Given the description of an element on the screen output the (x, y) to click on. 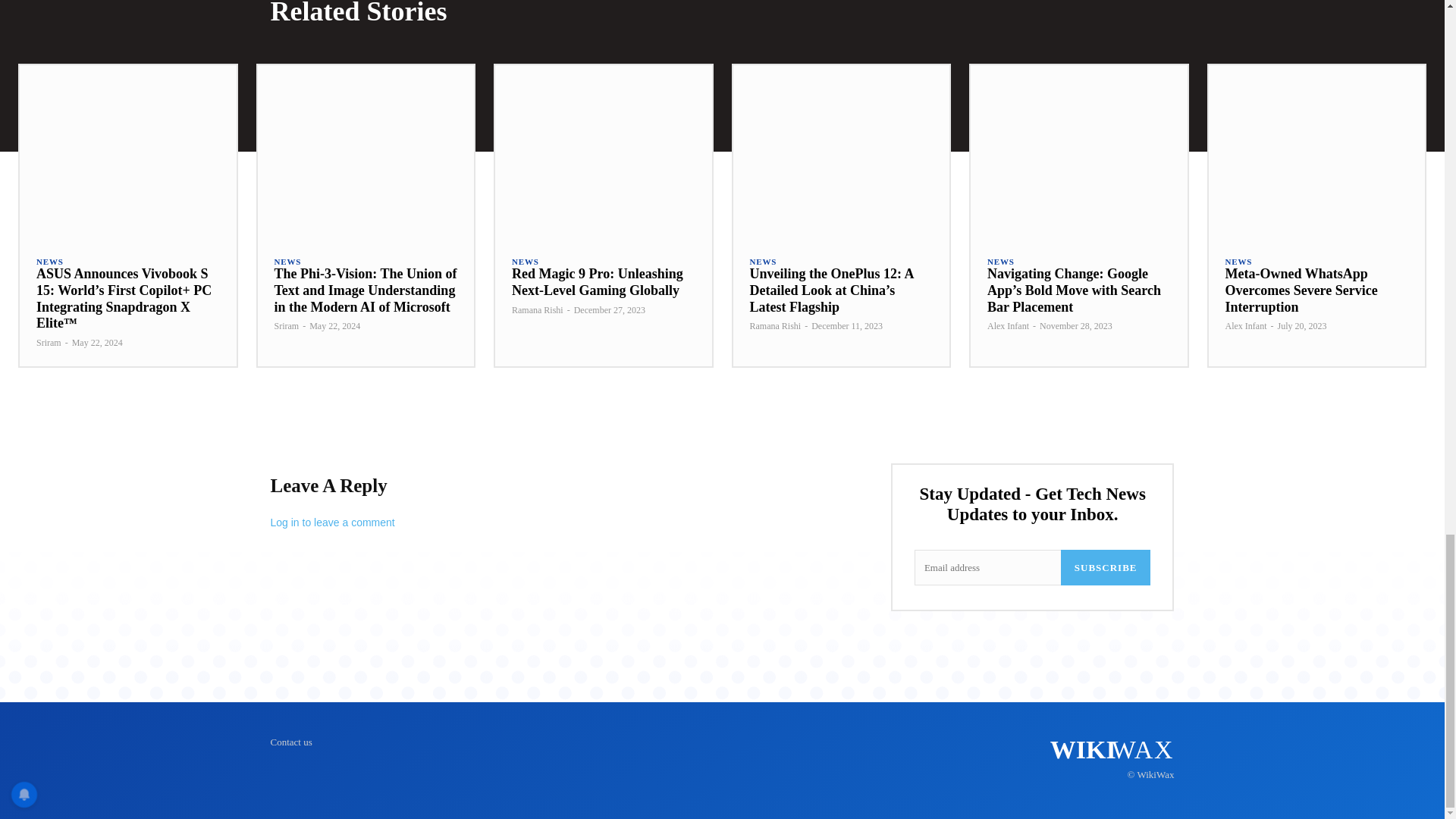
Red Magic 9 Pro: Unleashing Next-Level Gaming Globally (597, 282)
Meta-Owned WhatsApp Overcomes Severe Service Interruption (1301, 289)
Meta-Owned WhatsApp Overcomes Severe Service Interruption (1316, 151)
Red Magic 9 Pro: Unleashing Next-Level Gaming Globally (603, 151)
